Given the description of an element on the screen output the (x, y) to click on. 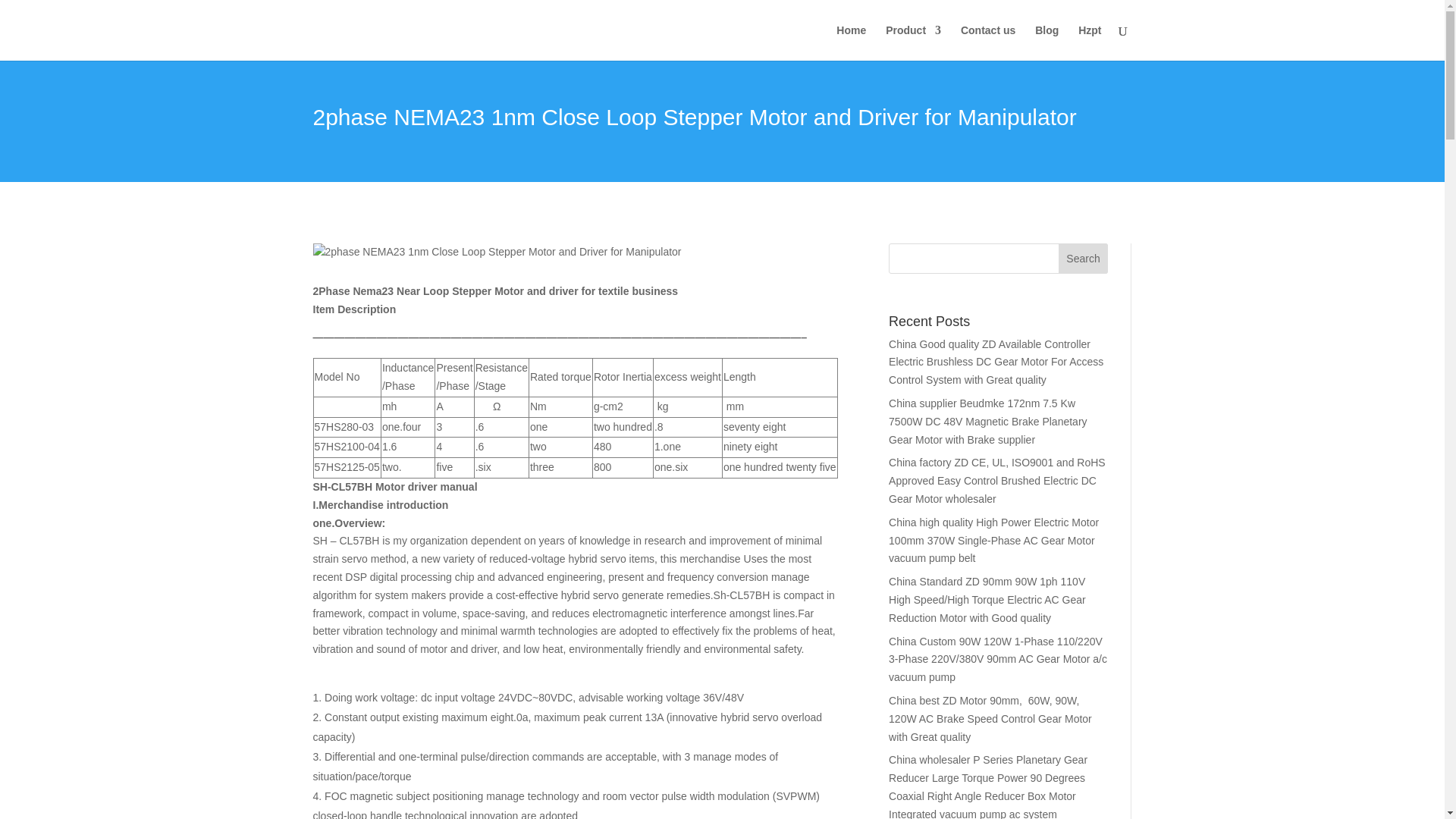
Search (1083, 258)
Contact us (987, 42)
Product (912, 42)
